Given the description of an element on the screen output the (x, y) to click on. 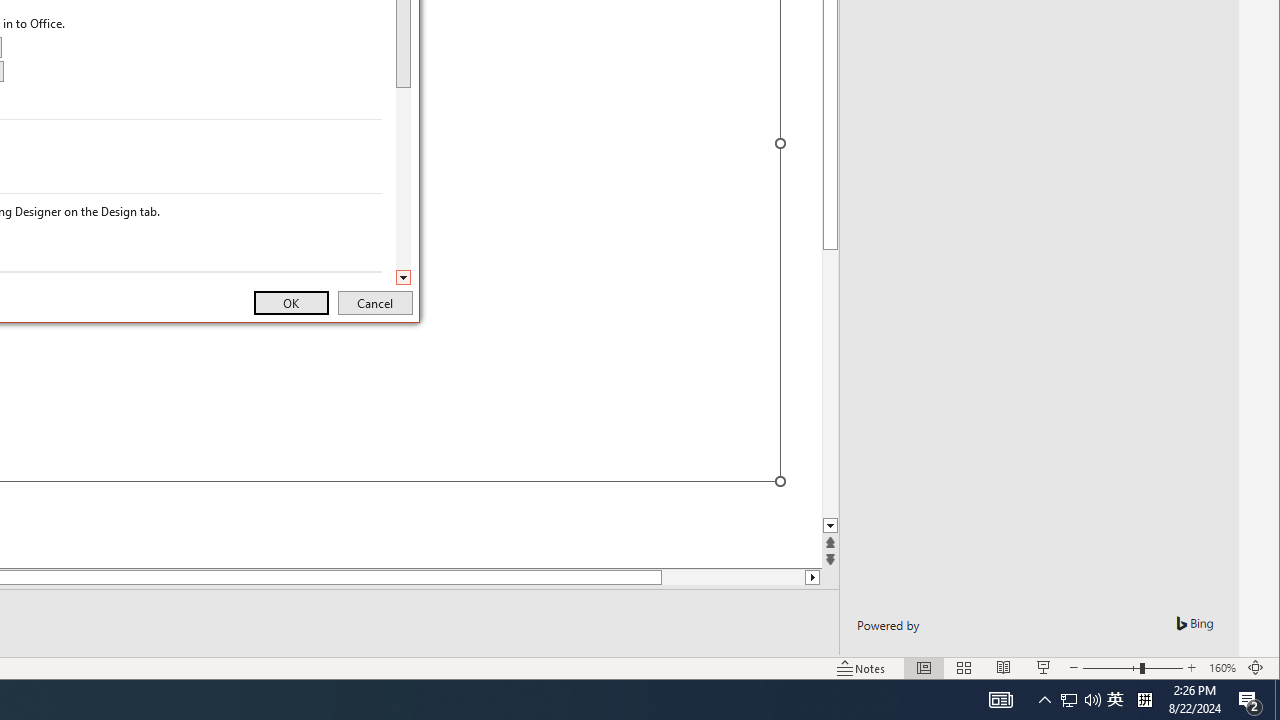
Zoom 160% (1222, 668)
